Given the description of an element on the screen output the (x, y) to click on. 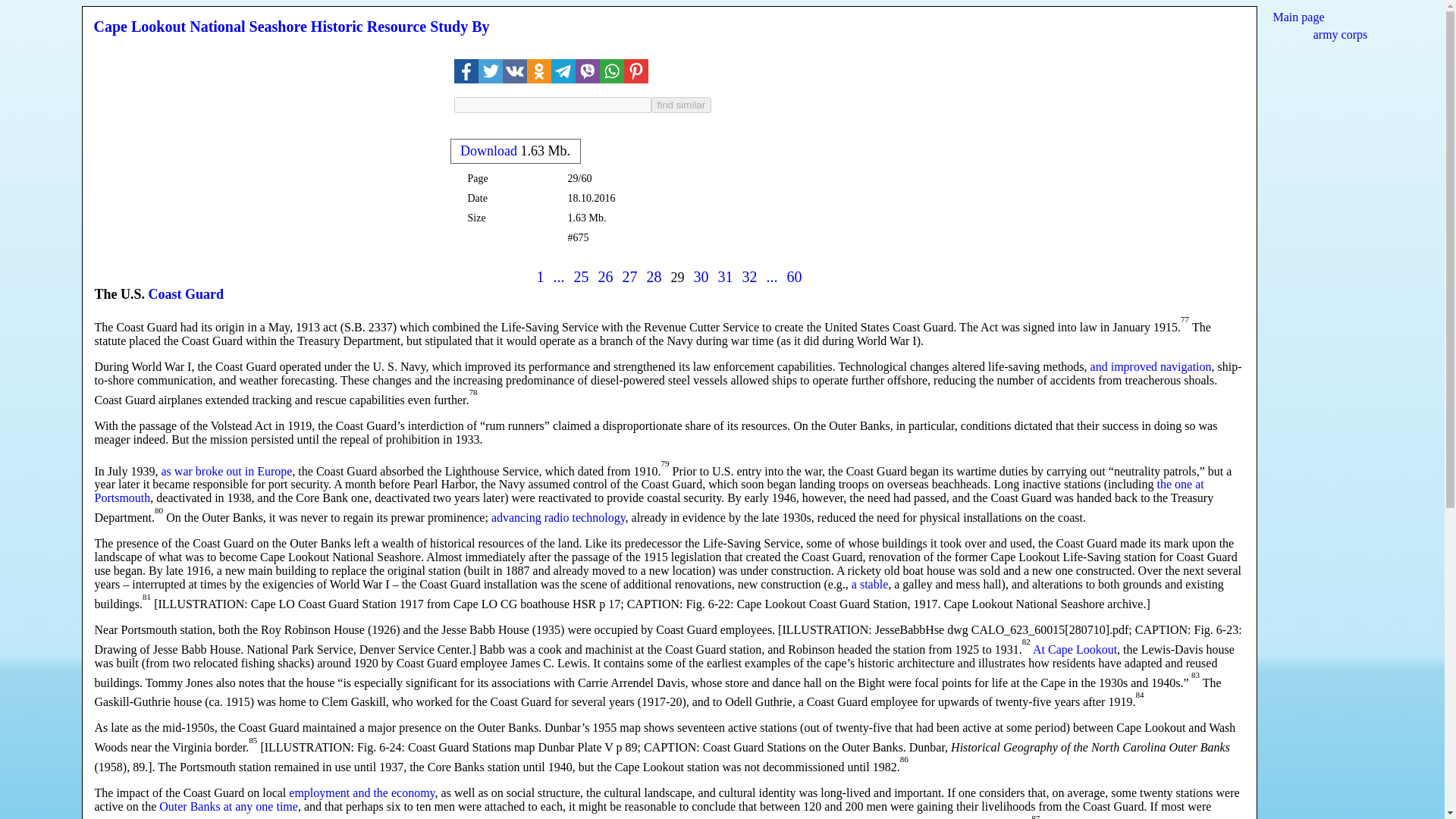
employment and the economy (360, 792)
find similar (680, 105)
32 (749, 276)
Outer Banks at any one time (228, 806)
30 (700, 276)
Coast Guard (186, 294)
27 (629, 276)
28 (653, 276)
the one at Portsmouth (649, 490)
as war broke out in Europe (226, 470)
31 (724, 276)
Download (488, 150)
Cape Lookout National Seashore Historic Resource Study By (291, 26)
25 (580, 276)
advancing radio technology (559, 517)
